Given the description of an element on the screen output the (x, y) to click on. 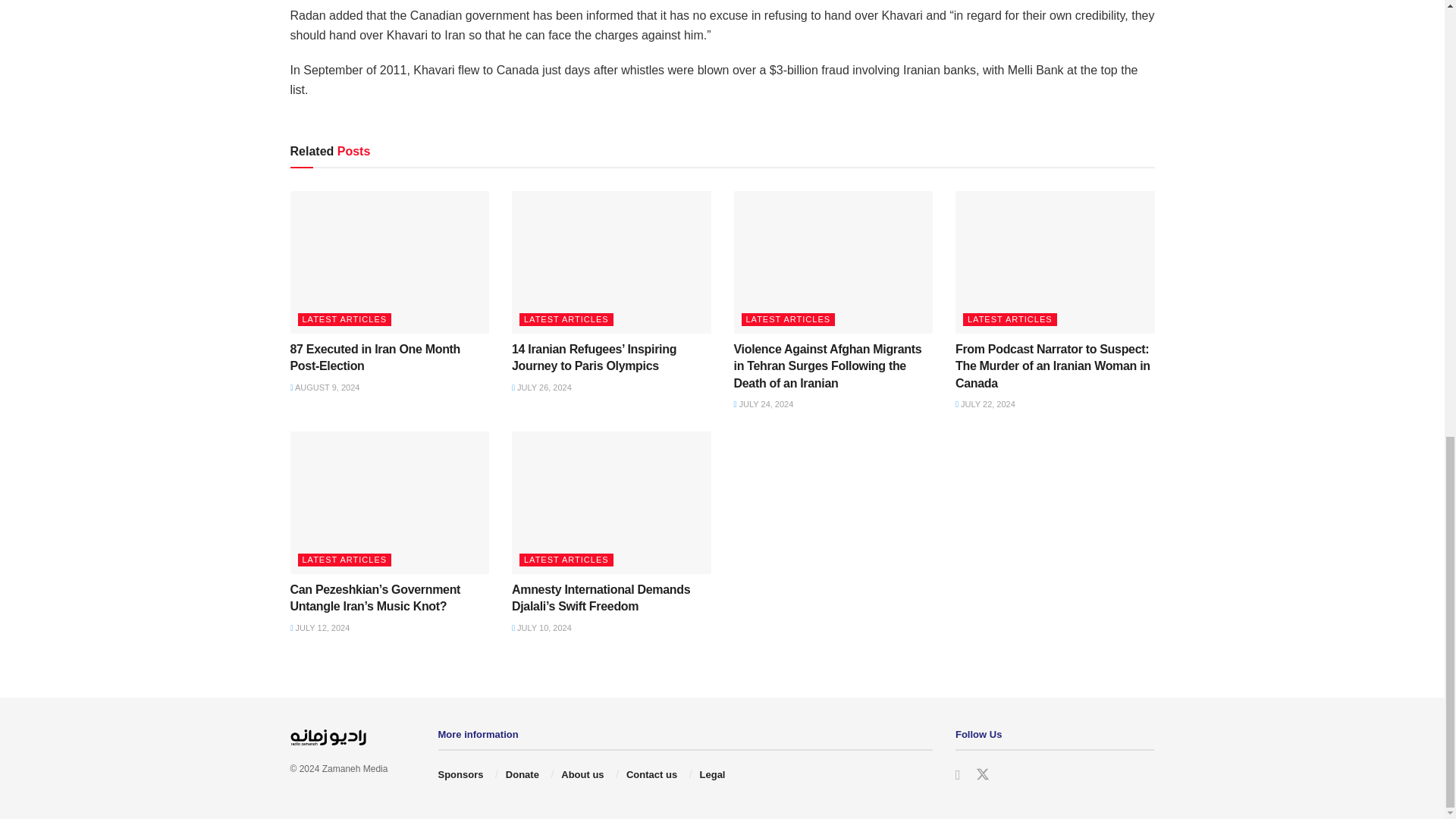
LATEST ARTICLES (344, 318)
87 Executed in Iran One Month Post-Election (374, 357)
AUGUST 9, 2024 (324, 387)
